Given the description of an element on the screen output the (x, y) to click on. 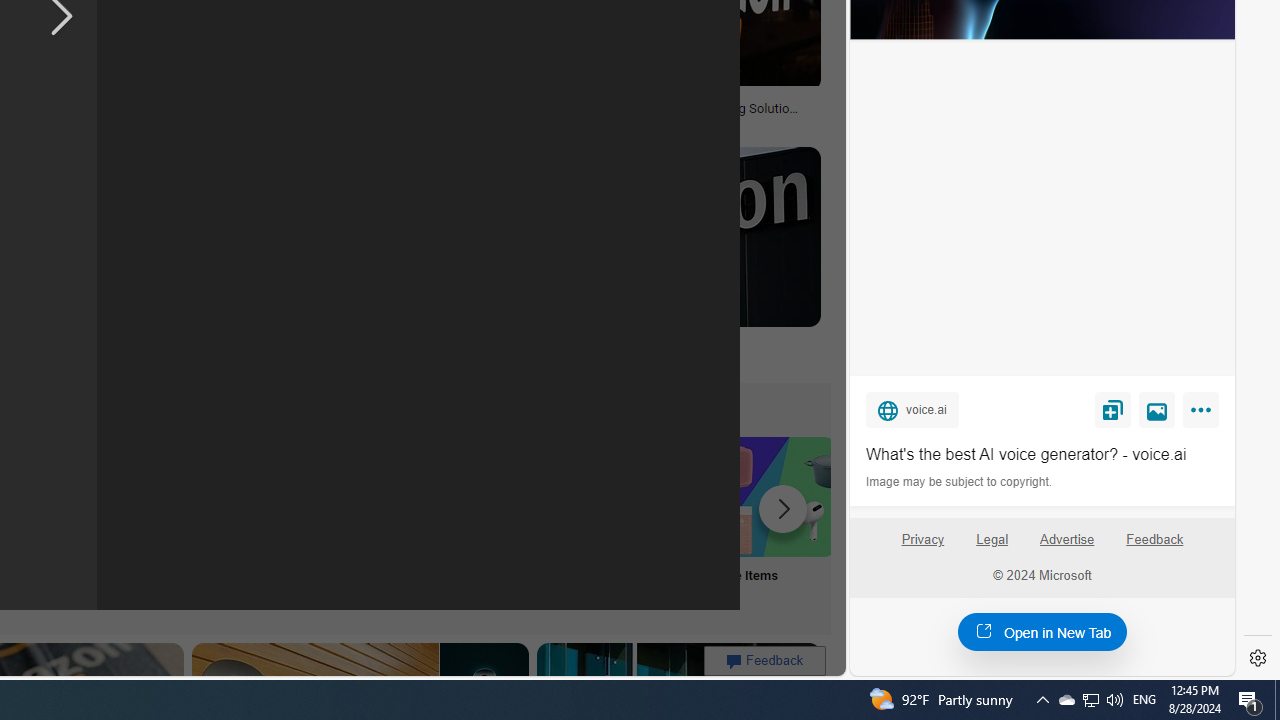
Amazon (662, 343)
Image result for amazon (662, 236)
Amazon Sale Items Sale Items (775, 521)
Prime Label (511, 521)
Amazon Sale Items (775, 496)
Online Shopping Homepage (248, 521)
mobilemarketingmagazine.com (574, 121)
Save (1112, 409)
vecteezy.com (371, 123)
Amazon Online Shopping Homepage (248, 496)
Amazonprotothema.grSave (662, 260)
